Given the description of an element on the screen output the (x, y) to click on. 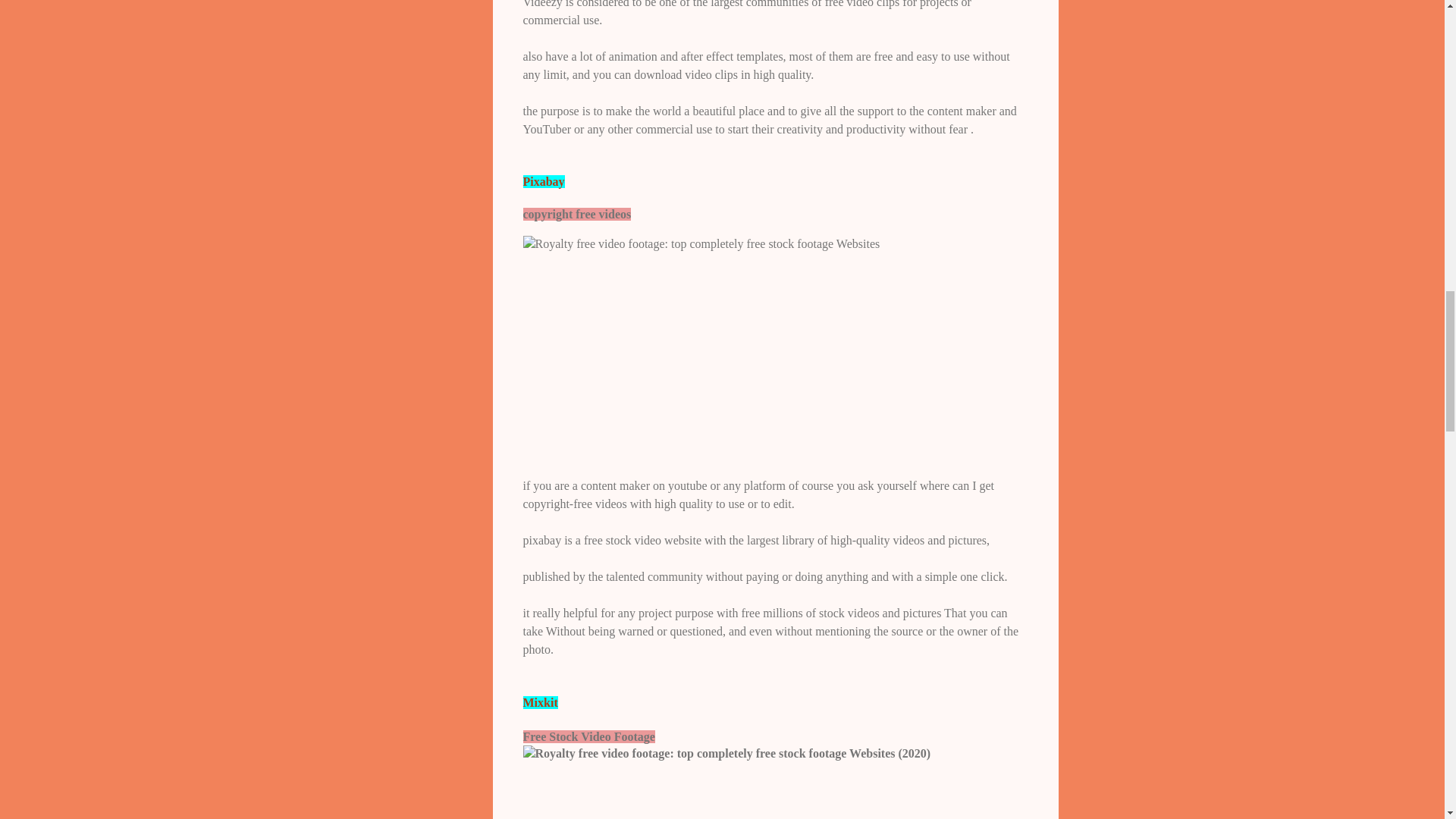
Free Stock Video Footage (726, 753)
Pixabay (543, 181)
Mixkit (539, 702)
